Given the description of an element on the screen output the (x, y) to click on. 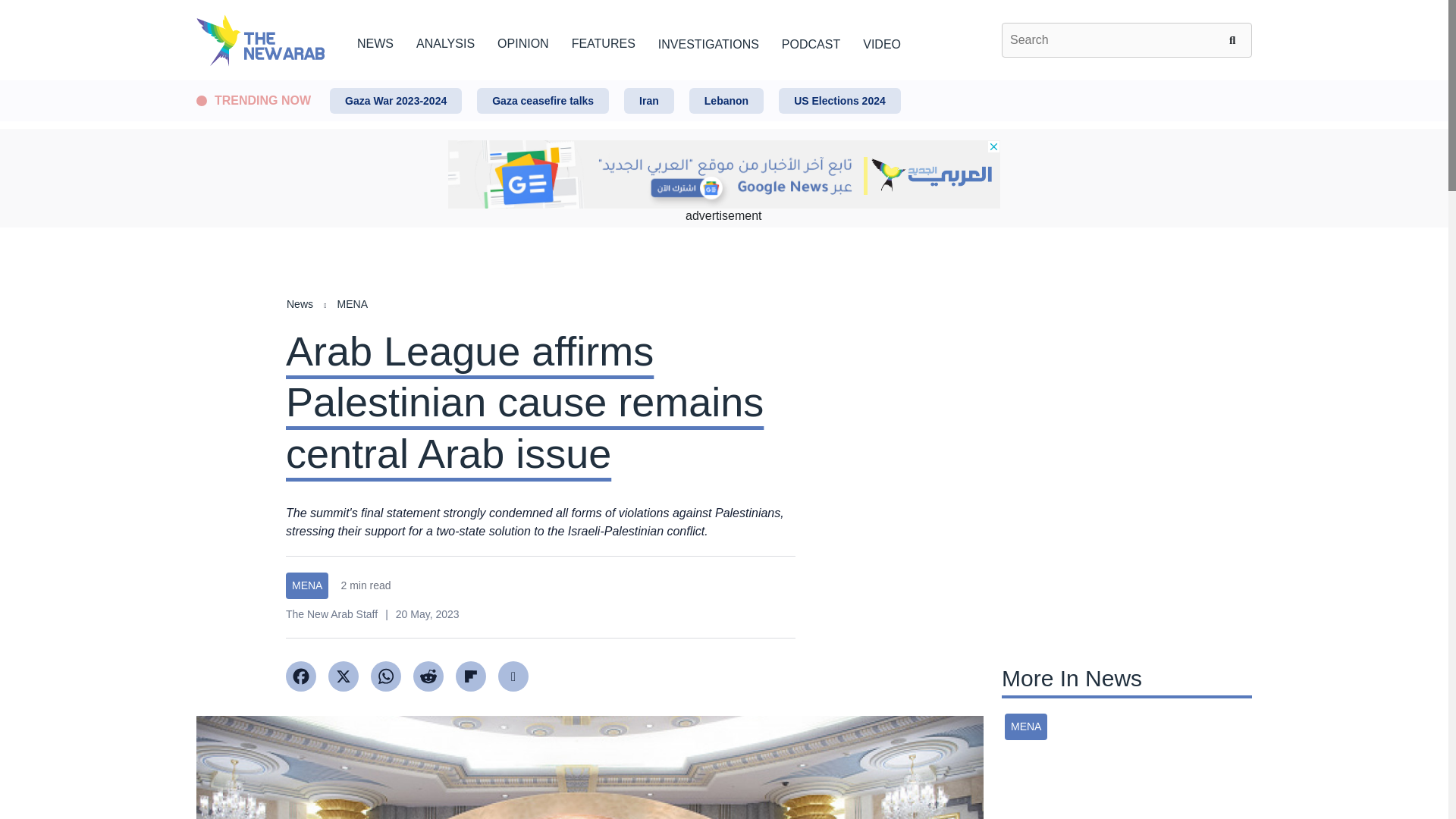
OPINION (523, 41)
Search (1234, 39)
Skip to main content (724, 81)
ANALYSIS (445, 41)
NEWS (375, 41)
